Given the description of an element on the screen output the (x, y) to click on. 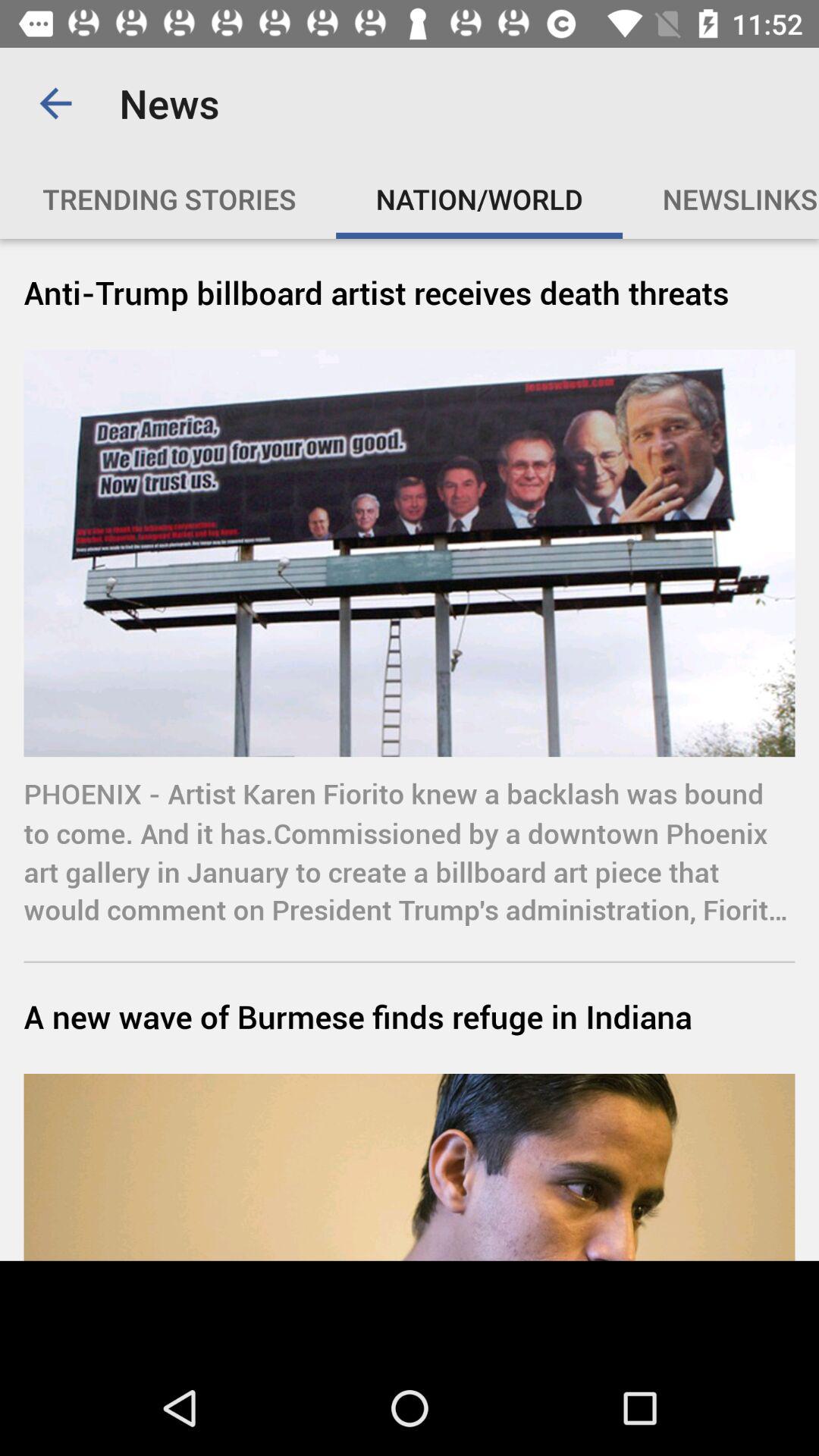
choose item above the trending stories item (55, 103)
